Given the description of an element on the screen output the (x, y) to click on. 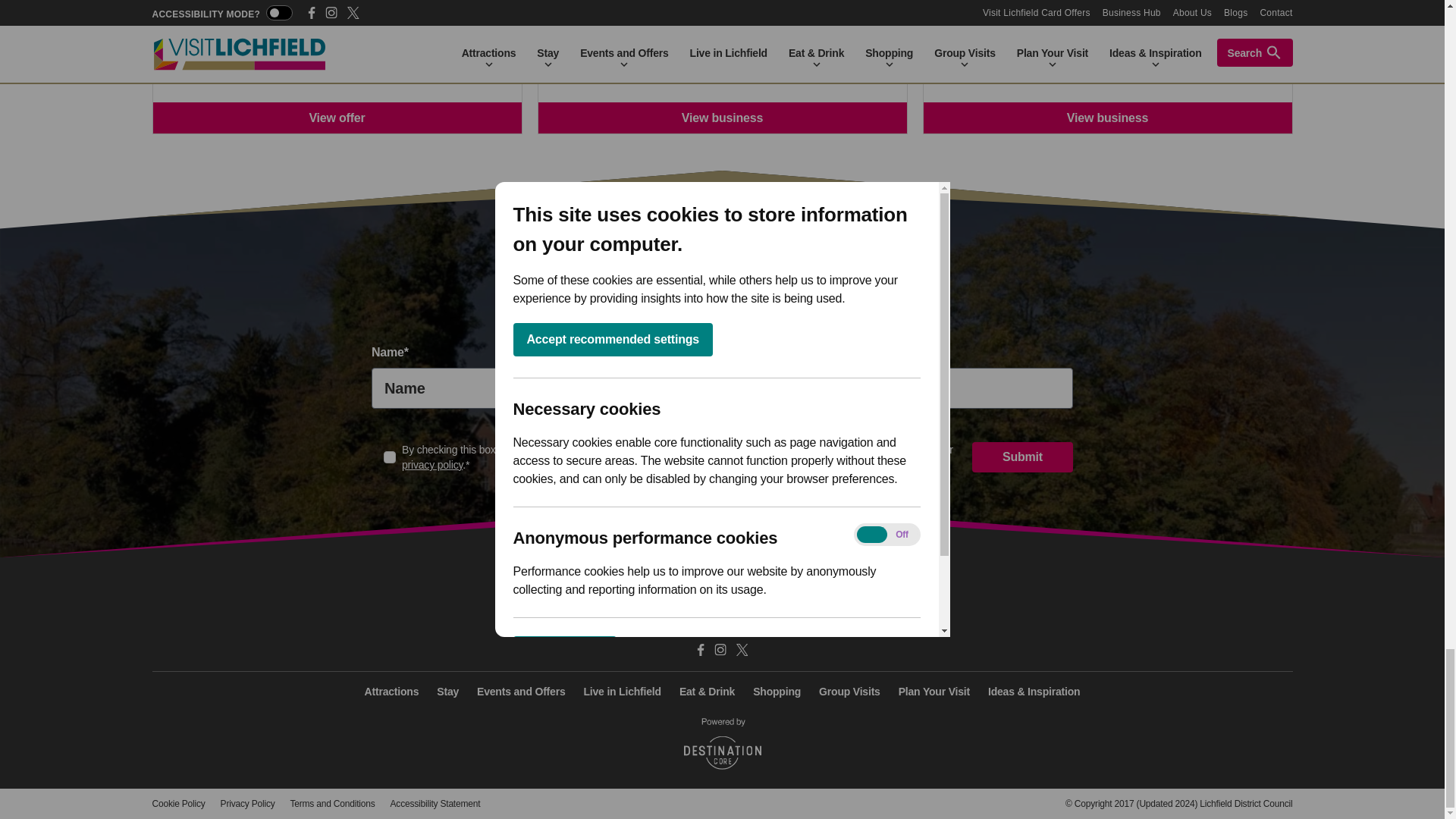
Visit Lichfield Instagram (719, 649)
Visit Lichfield Twitter (742, 649)
on (390, 457)
